Given the description of an element on the screen output the (x, y) to click on. 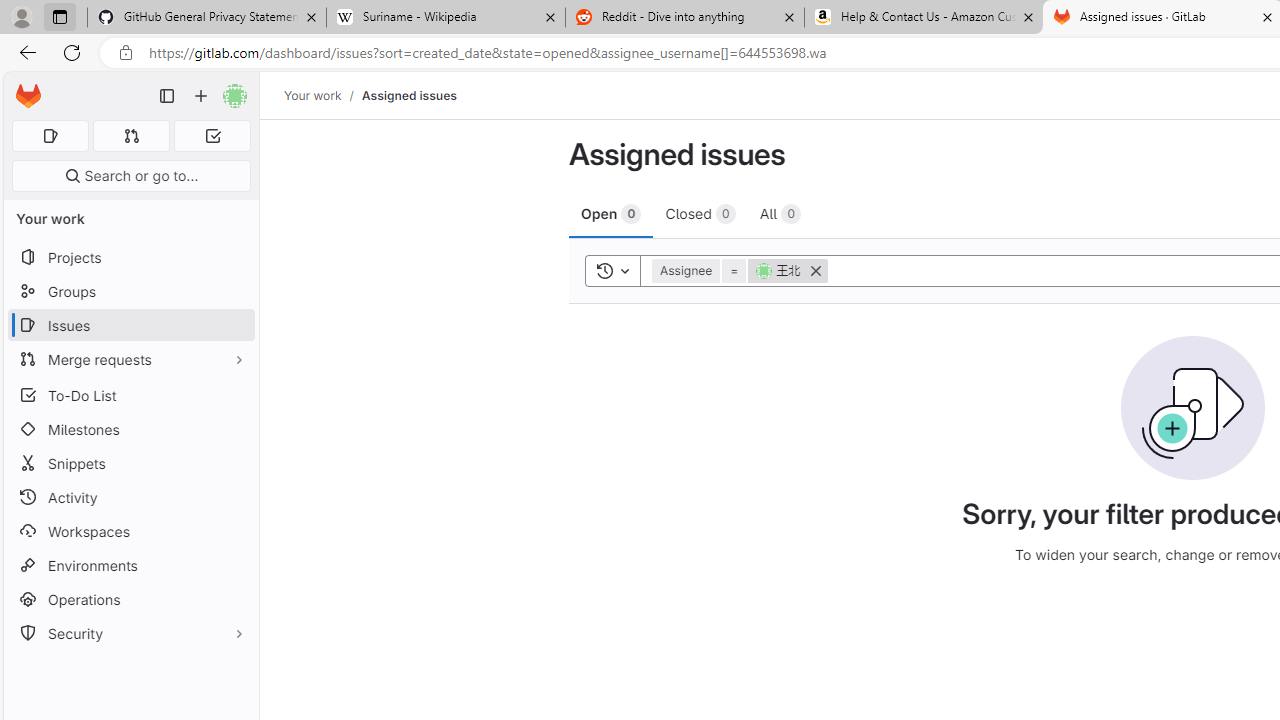
Security (130, 633)
Assigned issues 0 (50, 136)
Your work (312, 95)
Primary navigation sidebar (167, 96)
Operations (130, 599)
Open 0 (611, 213)
Activity (130, 497)
Environments (130, 564)
Homepage (27, 96)
Groups (130, 291)
